Given the description of an element on the screen output the (x, y) to click on. 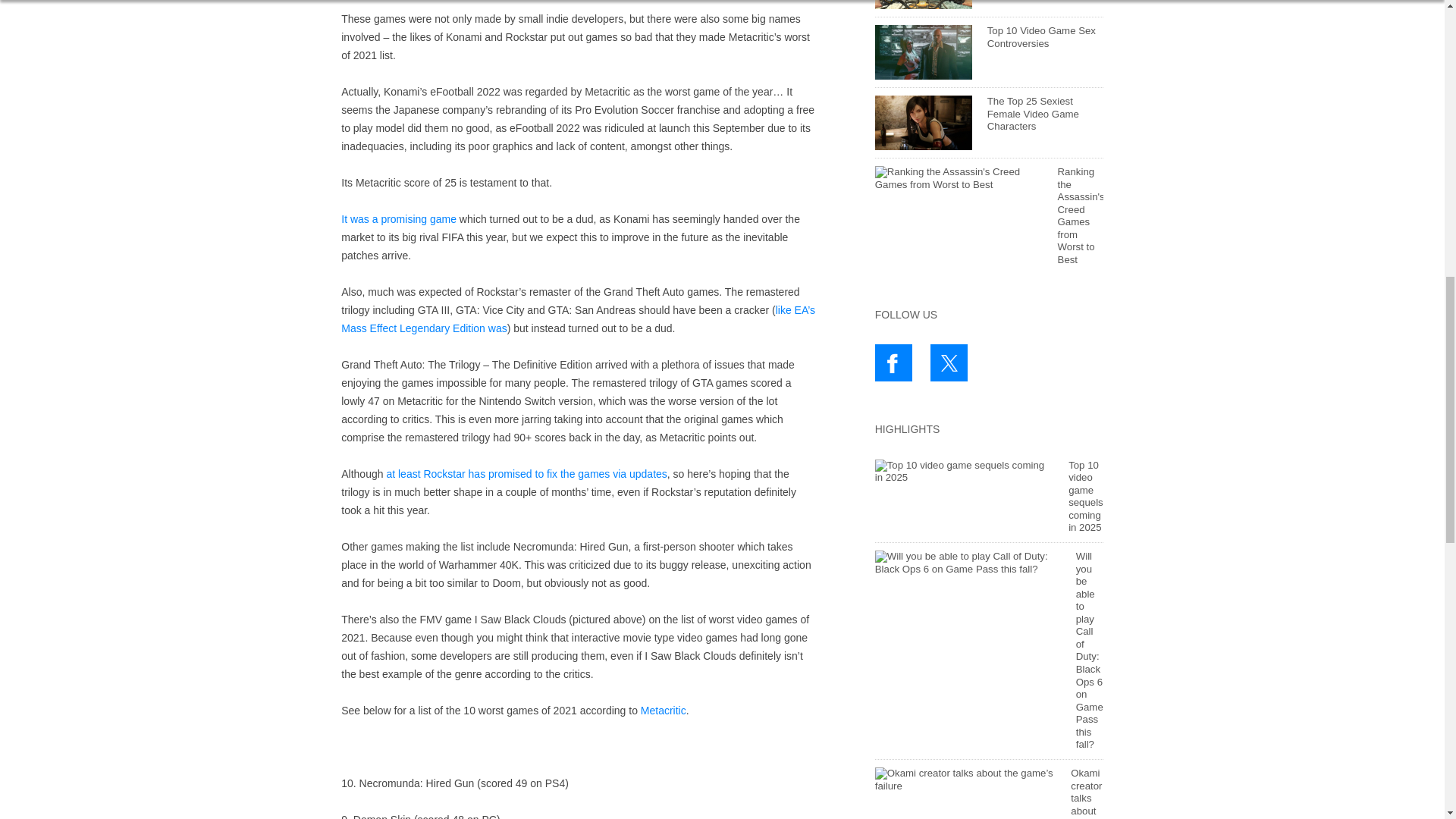
The Top 25 Sexiest Female Video Game Characters (1032, 113)
Ranking the Far Cry Games from Best to Worst (923, 4)
Top 10 Video Game Sex Controversies (1041, 37)
at least Rockstar has promised to fix the games via updates (525, 473)
It was a promising game (398, 218)
Top 10 Video Game Sex Controversies (1041, 37)
Top 10 Video Game Sex Controversies (923, 52)
Metacritic (662, 710)
